Given the description of an element on the screen output the (x, y) to click on. 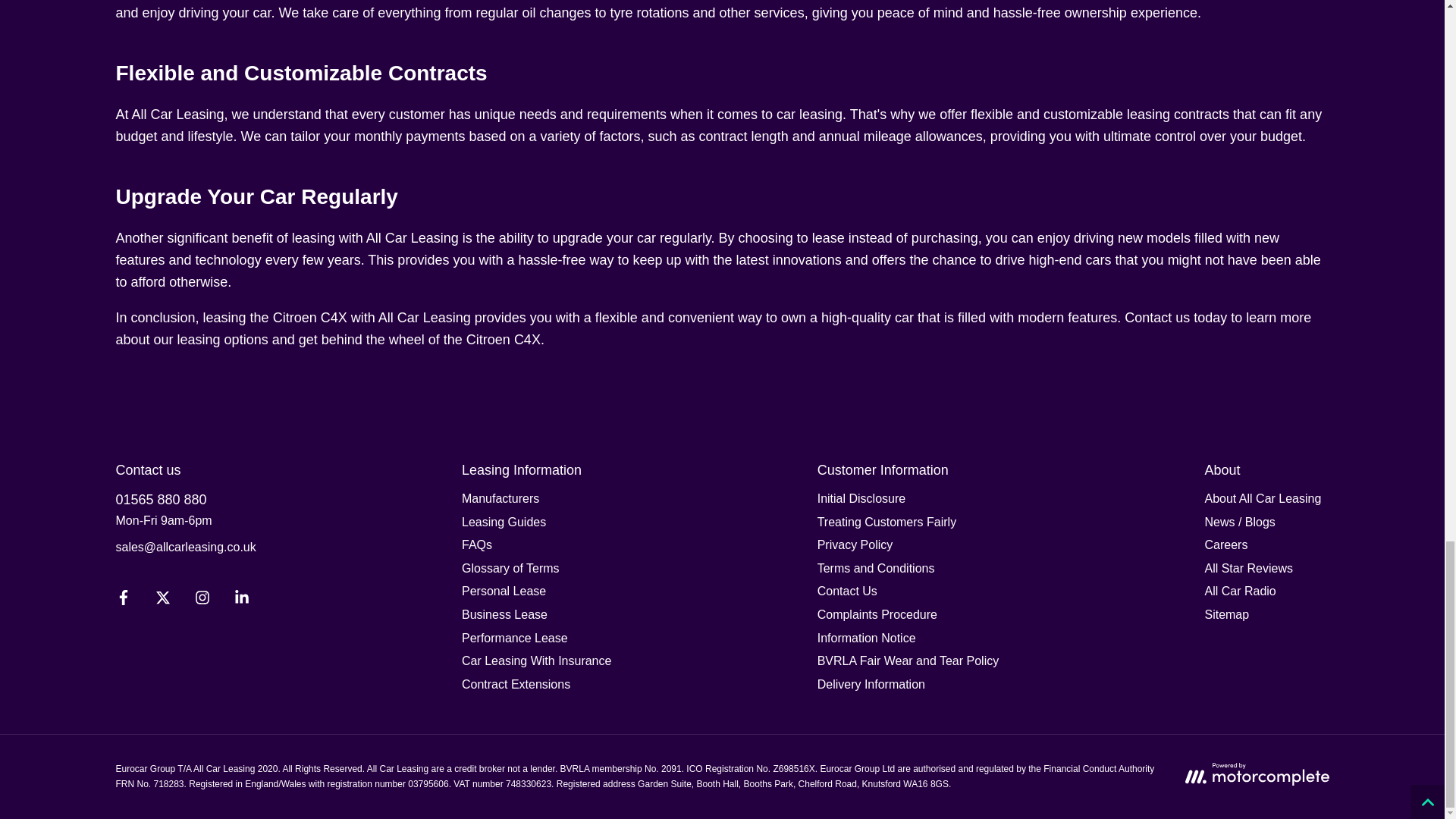
Twitter (162, 600)
LinkedIn (240, 600)
Car lease broker websites by MotorComplete (1256, 774)
Instagram (201, 600)
Facebook (122, 600)
